Given the description of an element on the screen output the (x, y) to click on. 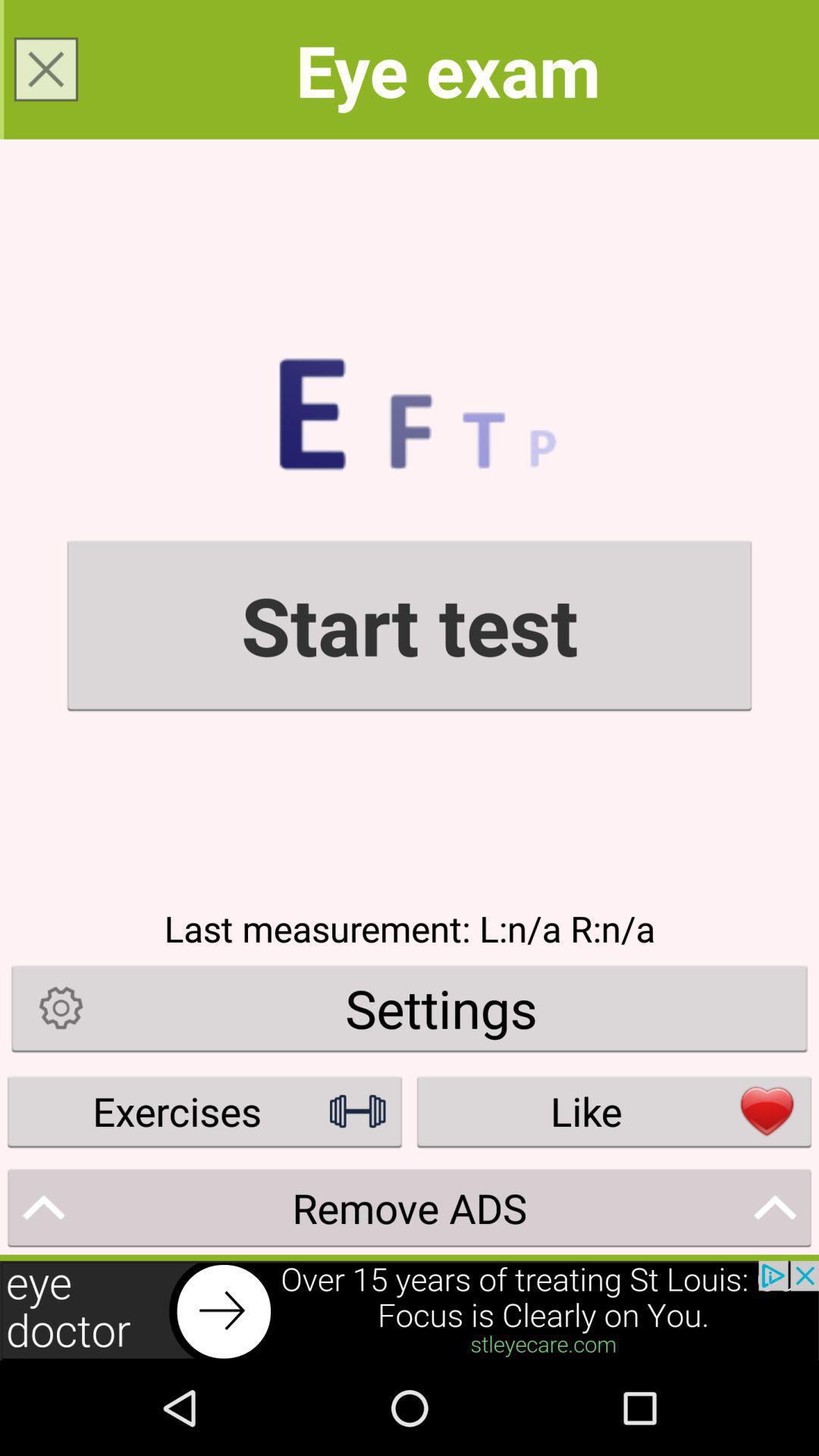
close page (45, 69)
